Given the description of an element on the screen output the (x, y) to click on. 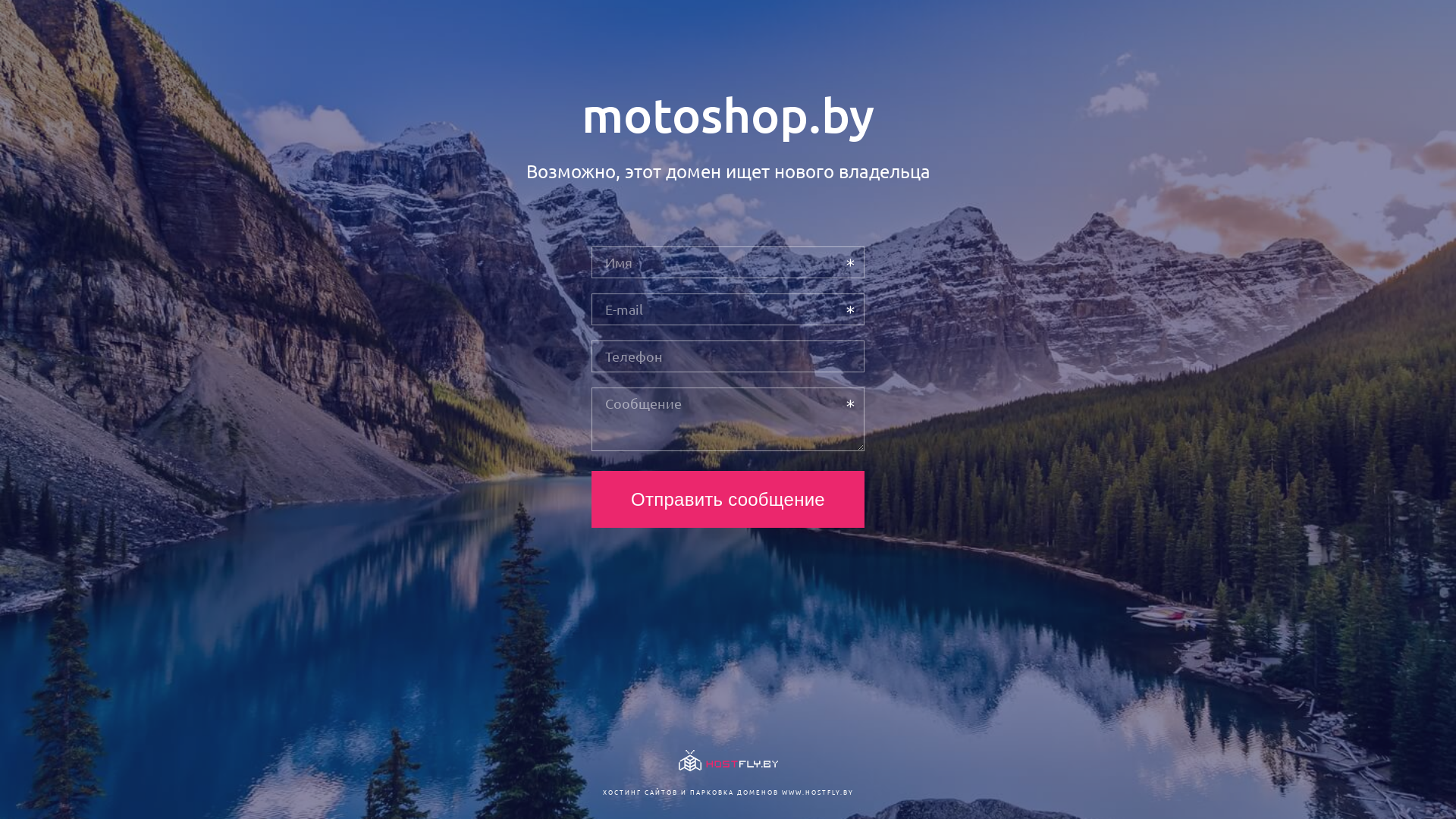
WWW.HOSTFLY.BY Element type: text (817, 791)
